Given the description of an element on the screen output the (x, y) to click on. 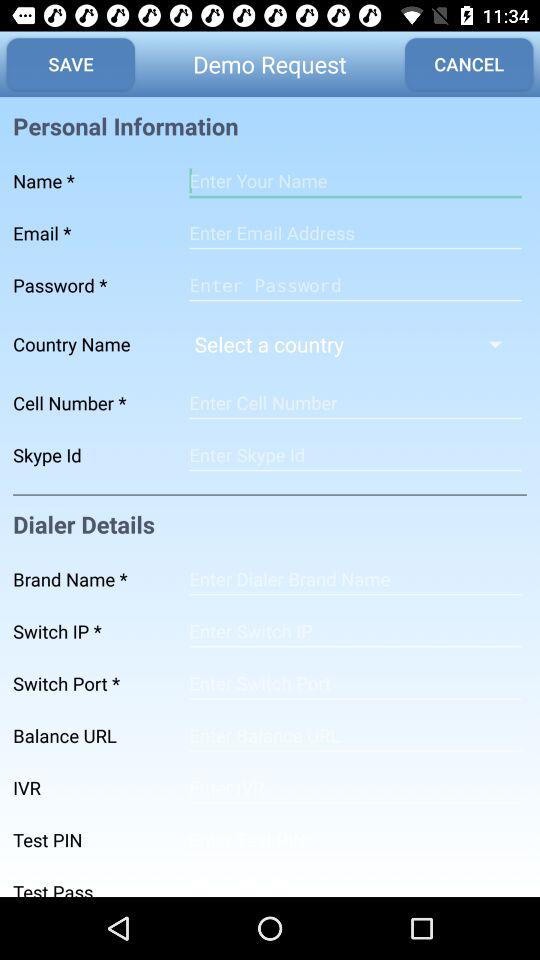
screen page (355, 735)
